Given the description of an element on the screen output the (x, y) to click on. 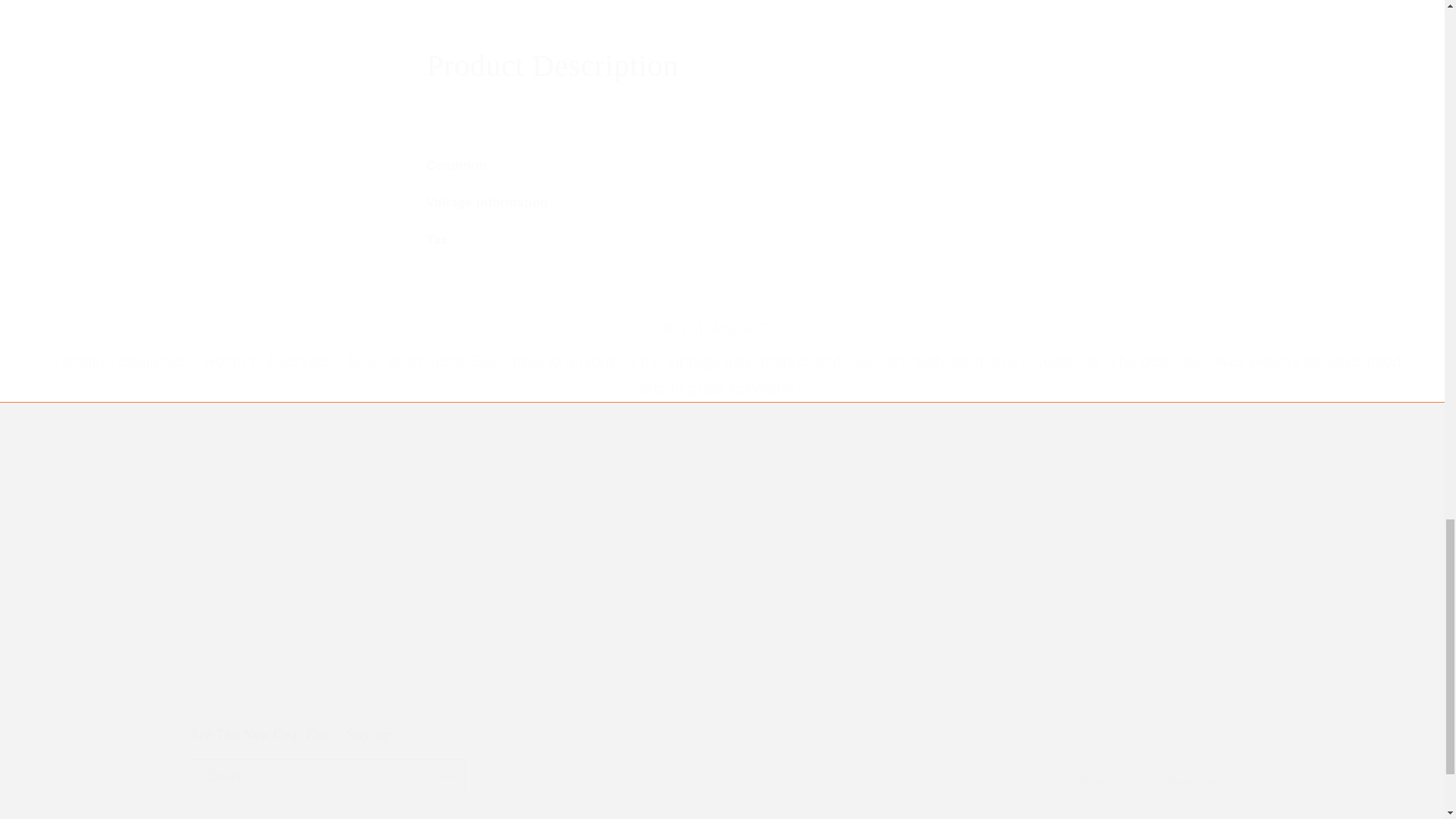
Voltage Information (721, 203)
Product Description (721, 760)
Condition (721, 65)
Tax (721, 166)
